Given the description of an element on the screen output the (x, y) to click on. 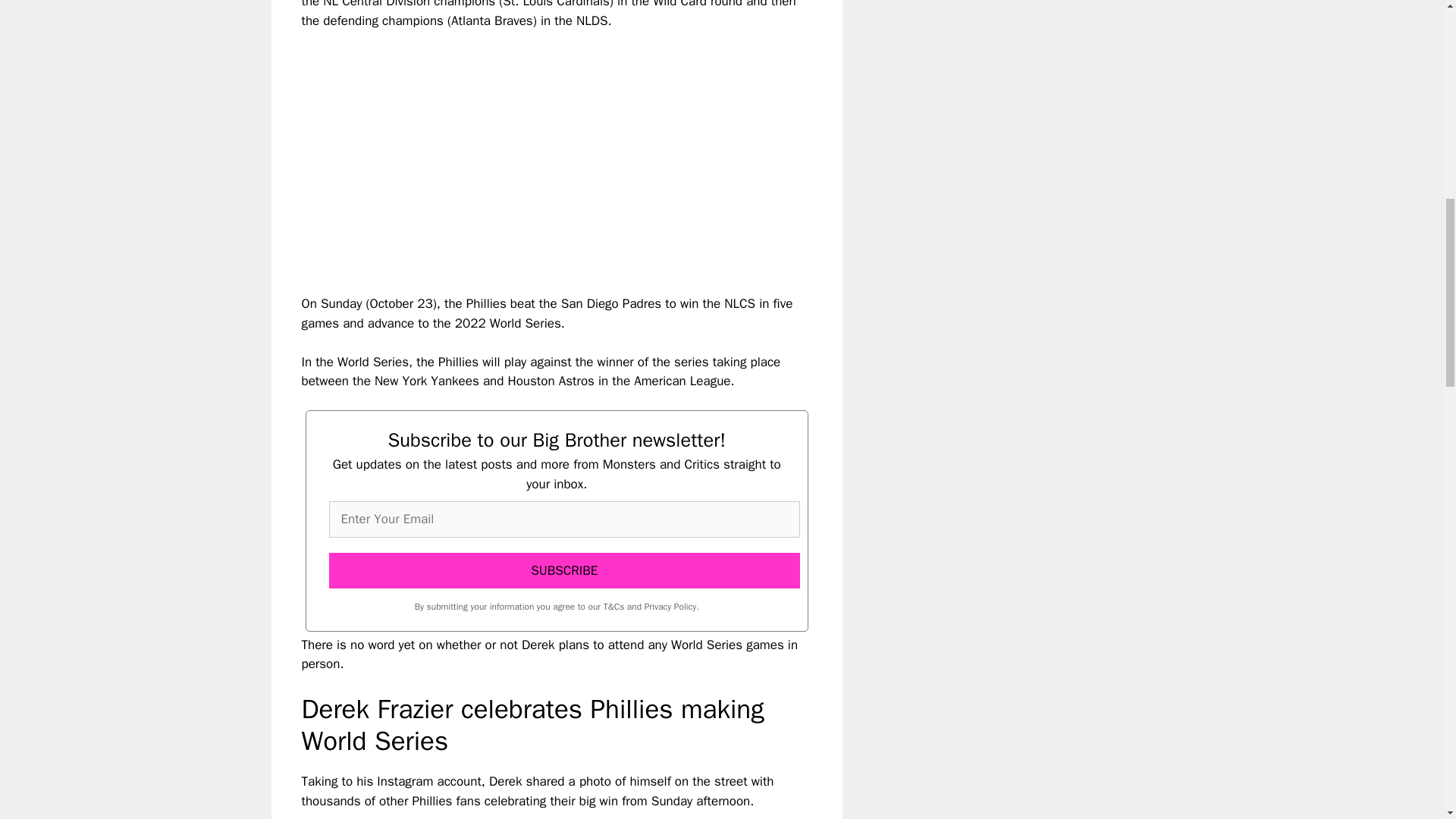
YouTube video player (513, 149)
SUBSCRIBE (564, 570)
SUBSCRIBE (564, 570)
